Given the description of an element on the screen output the (x, y) to click on. 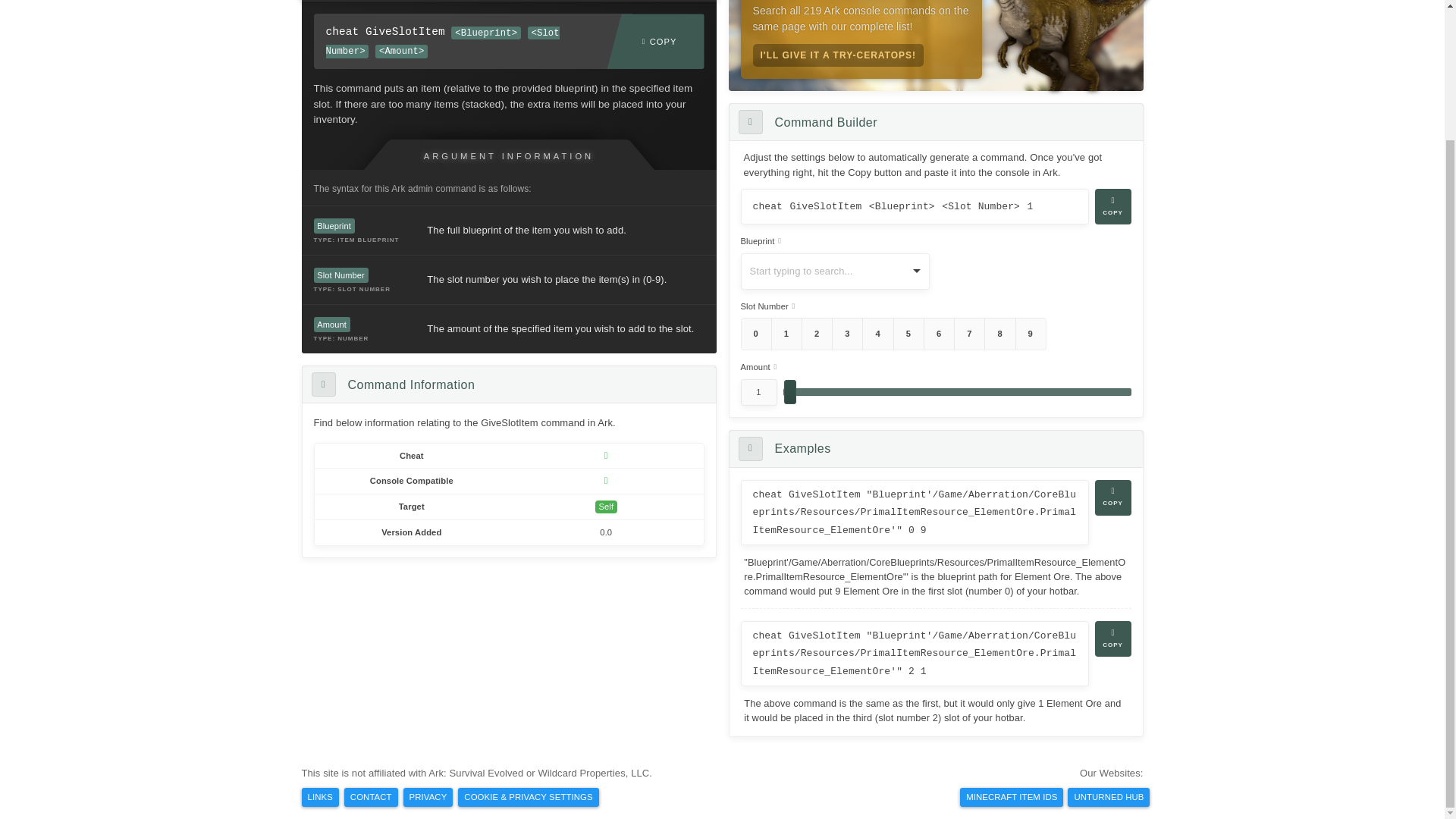
MINECRAFT ITEM IDS (1010, 796)
COPY (1112, 638)
COPY (1112, 497)
1 (757, 392)
COPY (655, 40)
CONTACT (370, 796)
LINKS (320, 796)
PRIVACY (427, 796)
UNTURNED HUB (1108, 796)
I'LL GIVE IT A TRY-CERATOPS! (837, 55)
COPY (1112, 206)
1 (957, 392)
Start typing to search... (834, 271)
